Given the description of an element on the screen output the (x, y) to click on. 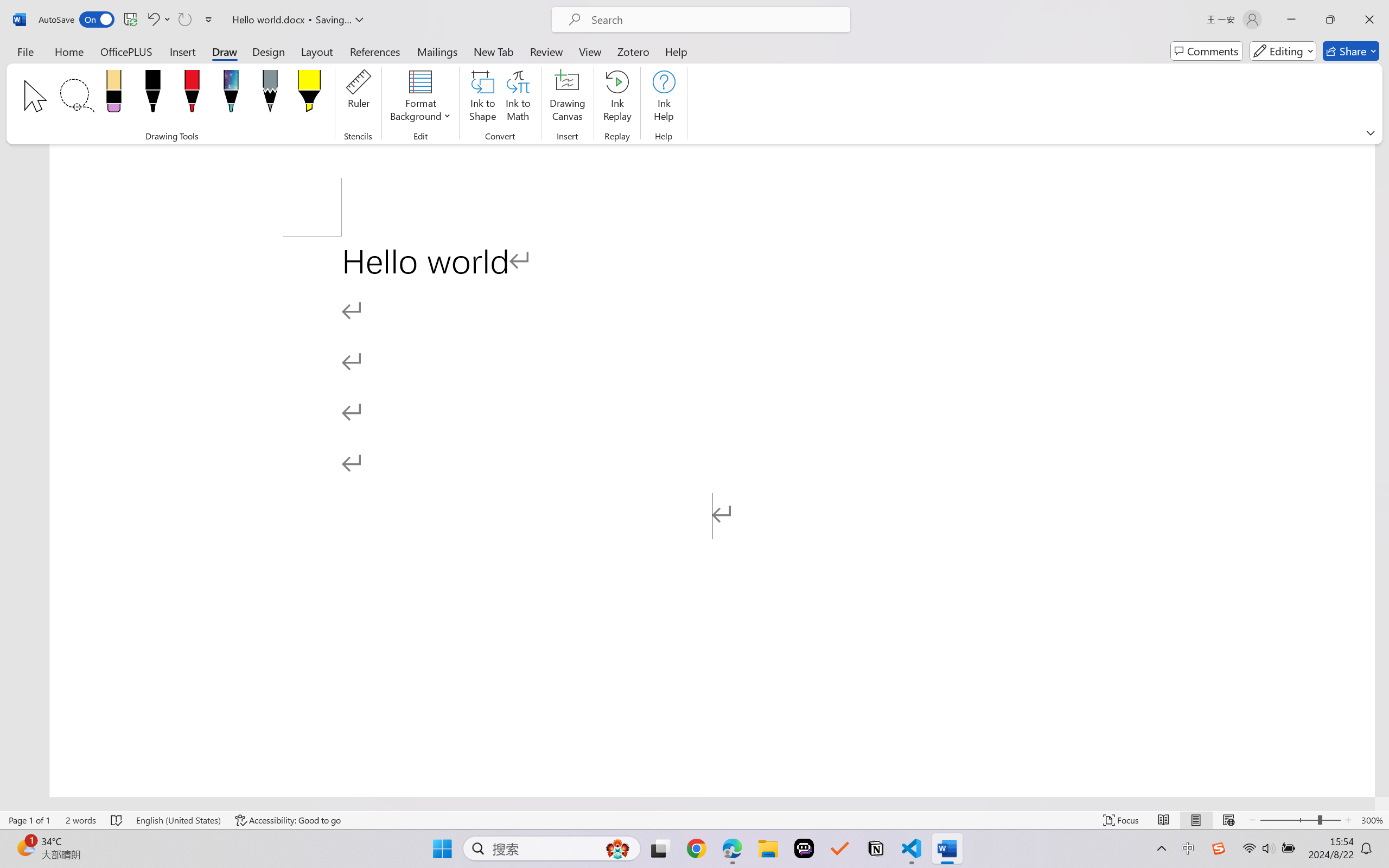
Web Layout (1228, 819)
Restore Down (1330, 19)
Ruler (358, 97)
Focus  (1121, 819)
AutomationID: BadgeAnchorLargeTicker (24, 847)
Minimize (1291, 19)
Class: NetUIScrollBar (687, 803)
Page Number Page 1 of 1 (29, 819)
Undo Click and Type Formatting (158, 19)
Class: Image (1218, 847)
Share (1350, 51)
View (589, 51)
Layout (316, 51)
Spelling and Grammar Check No Errors (117, 819)
